Given the description of an element on the screen output the (x, y) to click on. 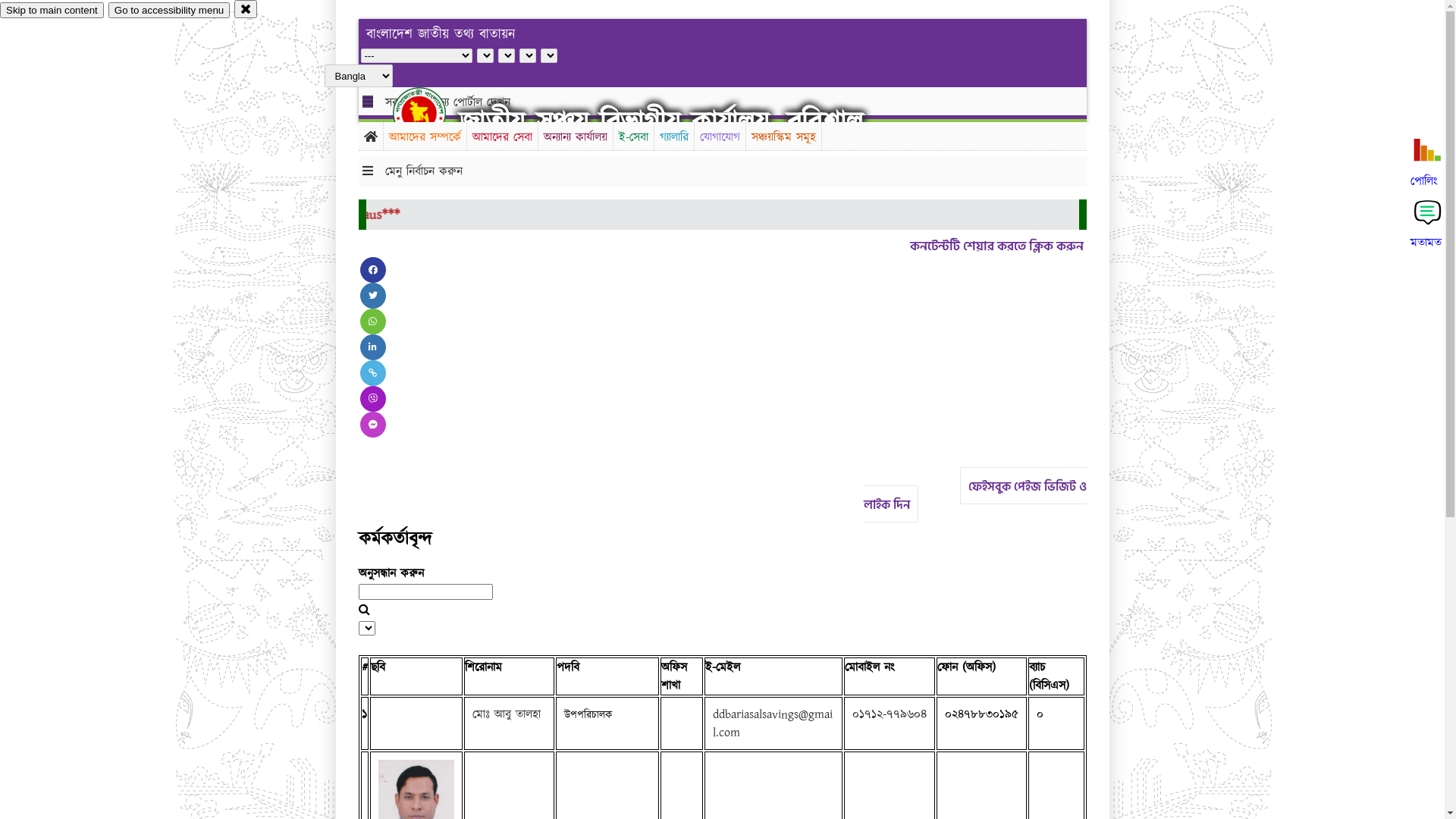

                
             Element type: hover (431, 112)
Go to accessibility menu Element type: text (168, 10)
ddbariasalsavings@gmail.com Element type: text (772, 722)
Skip to main content Element type: text (51, 10)
close Element type: hover (245, 9)
